Given the description of an element on the screen output the (x, y) to click on. 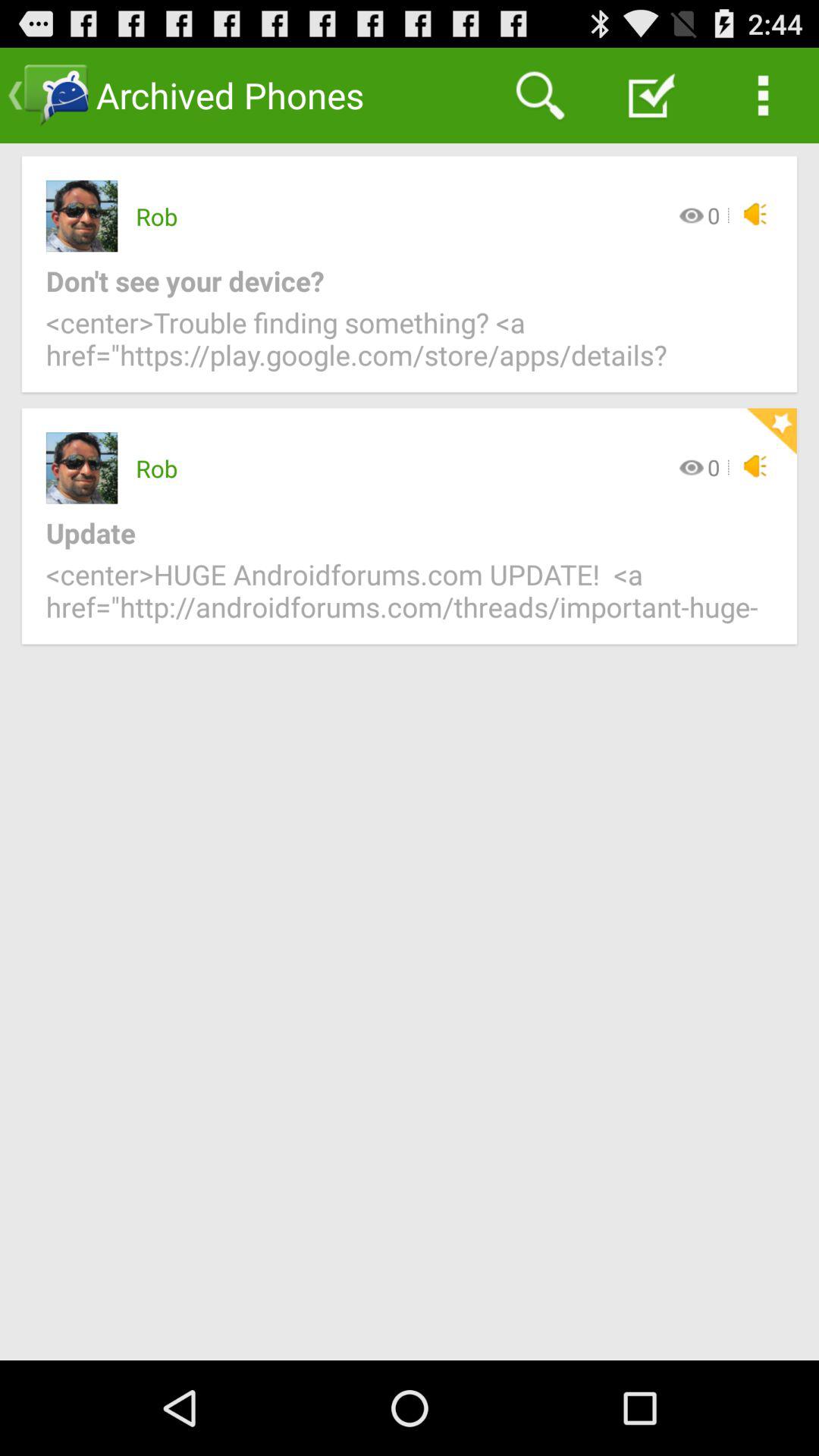
select icon below don t see (409, 347)
